Given the description of an element on the screen output the (x, y) to click on. 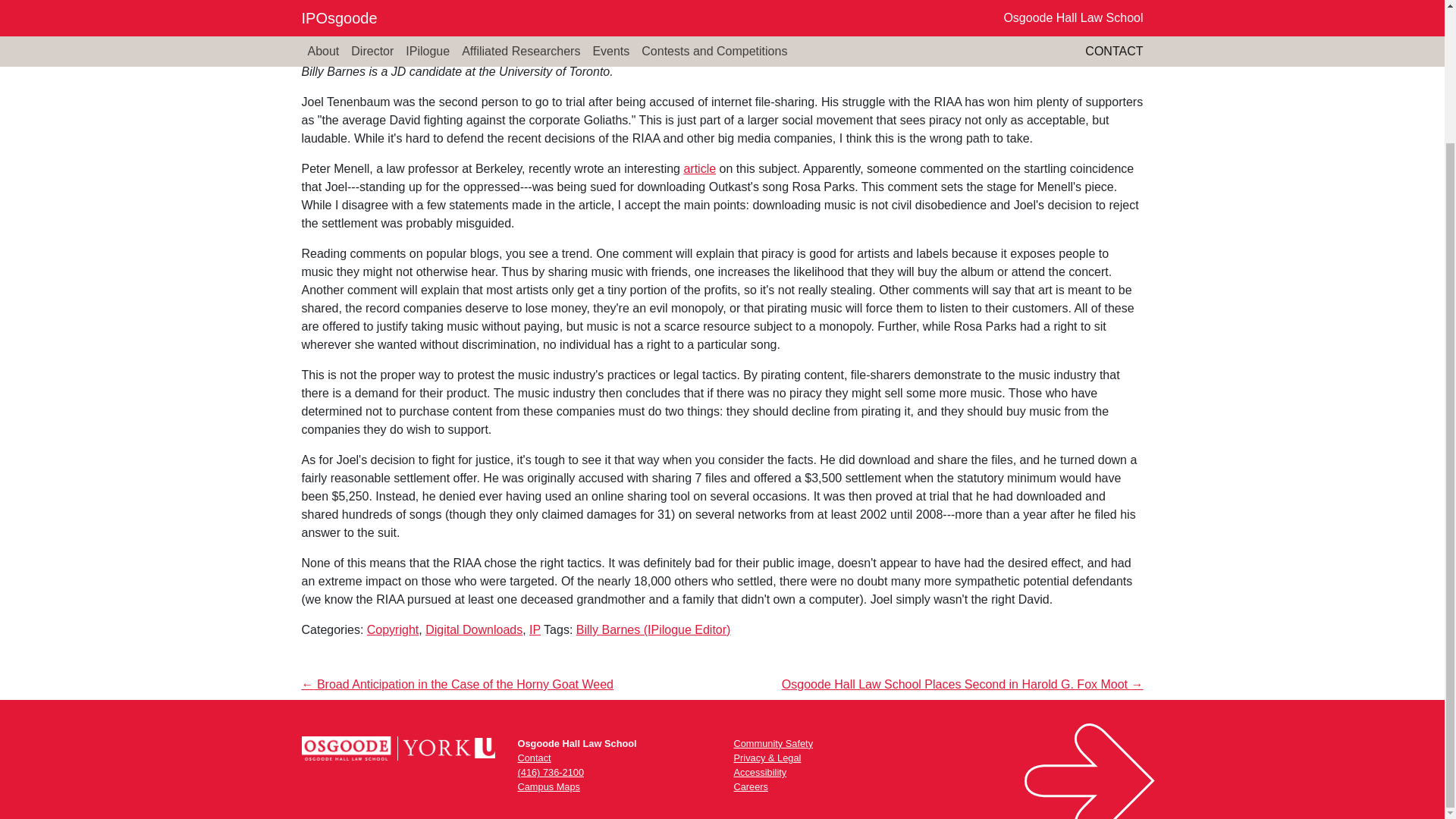
Copyright (392, 629)
Accessibility (760, 772)
Contact (533, 757)
Community Safety (773, 743)
Digital Downloads (473, 629)
Campus Maps (547, 786)
Careers (750, 786)
article (699, 168)
